Given the description of an element on the screen output the (x, y) to click on. 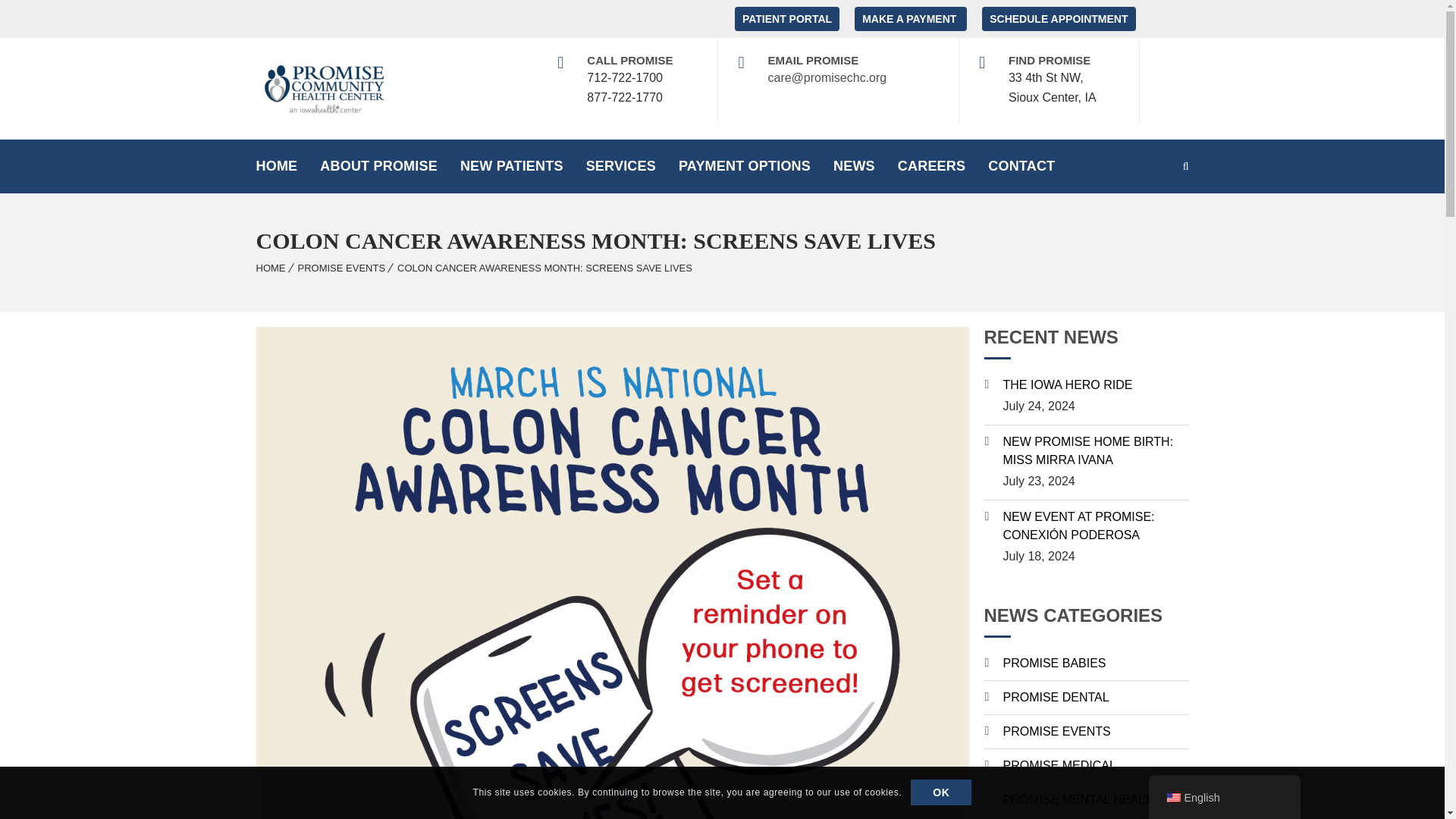
NEWS (854, 165)
ABOUT PROMISE (378, 165)
HOME (276, 165)
CONTACT (1020, 165)
English (1172, 797)
SERVICES (620, 165)
PAYMENT OPTIONS (744, 165)
SCHEDULE APPOINTMENT (1058, 18)
CAREERS (931, 165)
NEW PATIENTS (511, 165)
MAKE A PAYMENT (910, 18)
PATIENT PORTAL (787, 18)
